Given the description of an element on the screen output the (x, y) to click on. 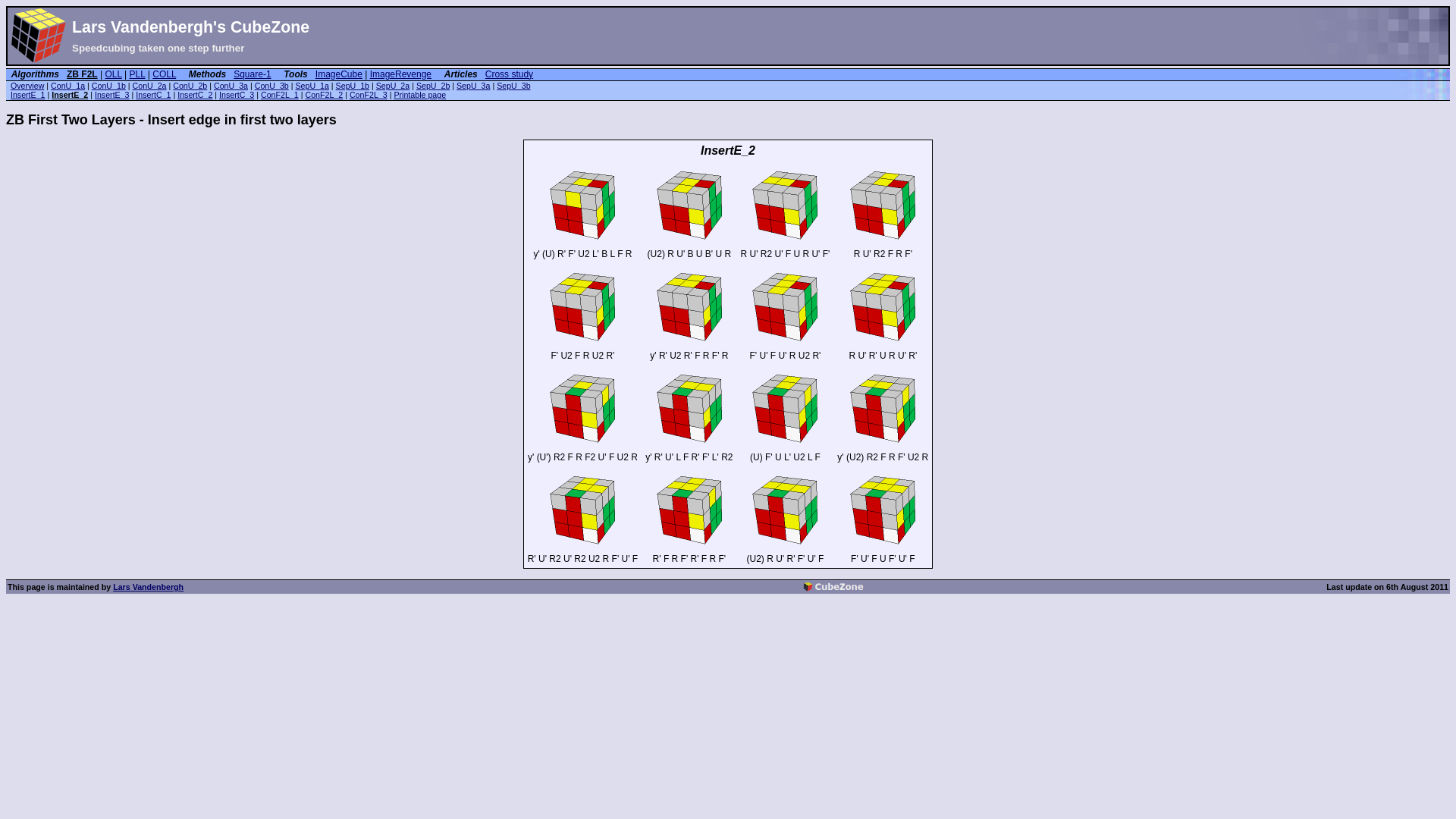
ConU_2b Element type: text (189, 85)
ConU_2a Element type: text (149, 85)
ConU_3b Element type: text (271, 85)
ImageCube Element type: text (338, 74)
ConU_1b Element type: text (108, 85)
SepU_2a Element type: text (392, 85)
InsertE_3 Element type: text (111, 94)
SepU_1b Element type: text (352, 85)
ConF2L_2 Element type: text (323, 94)
SepU_2b Element type: text (432, 85)
ConF2L_1 Element type: text (279, 94)
ImageRevenge Element type: text (400, 74)
OLL Element type: text (112, 74)
ZB F2L Element type: text (81, 74)
ConU_1a Element type: text (67, 85)
InsertC_2 Element type: text (194, 94)
InsertC_3 Element type: text (236, 94)
Lars Vandenbergh Element type: text (147, 586)
Printable page Element type: text (419, 94)
SepU_3a Element type: text (472, 85)
Square-1 Element type: text (251, 74)
COLL Element type: text (163, 74)
Overview Element type: text (26, 85)
InsertE_1 Element type: text (27, 94)
ConF2L_3 Element type: text (368, 94)
ConU_3a Element type: text (230, 85)
SepU_1a Element type: text (311, 85)
InsertE_2 Element type: text (69, 94)
InsertC_1 Element type: text (152, 94)
PLL Element type: text (137, 74)
Cross study Element type: text (509, 74)
SepU_3b Element type: text (513, 85)
